Given the description of an element on the screen output the (x, y) to click on. 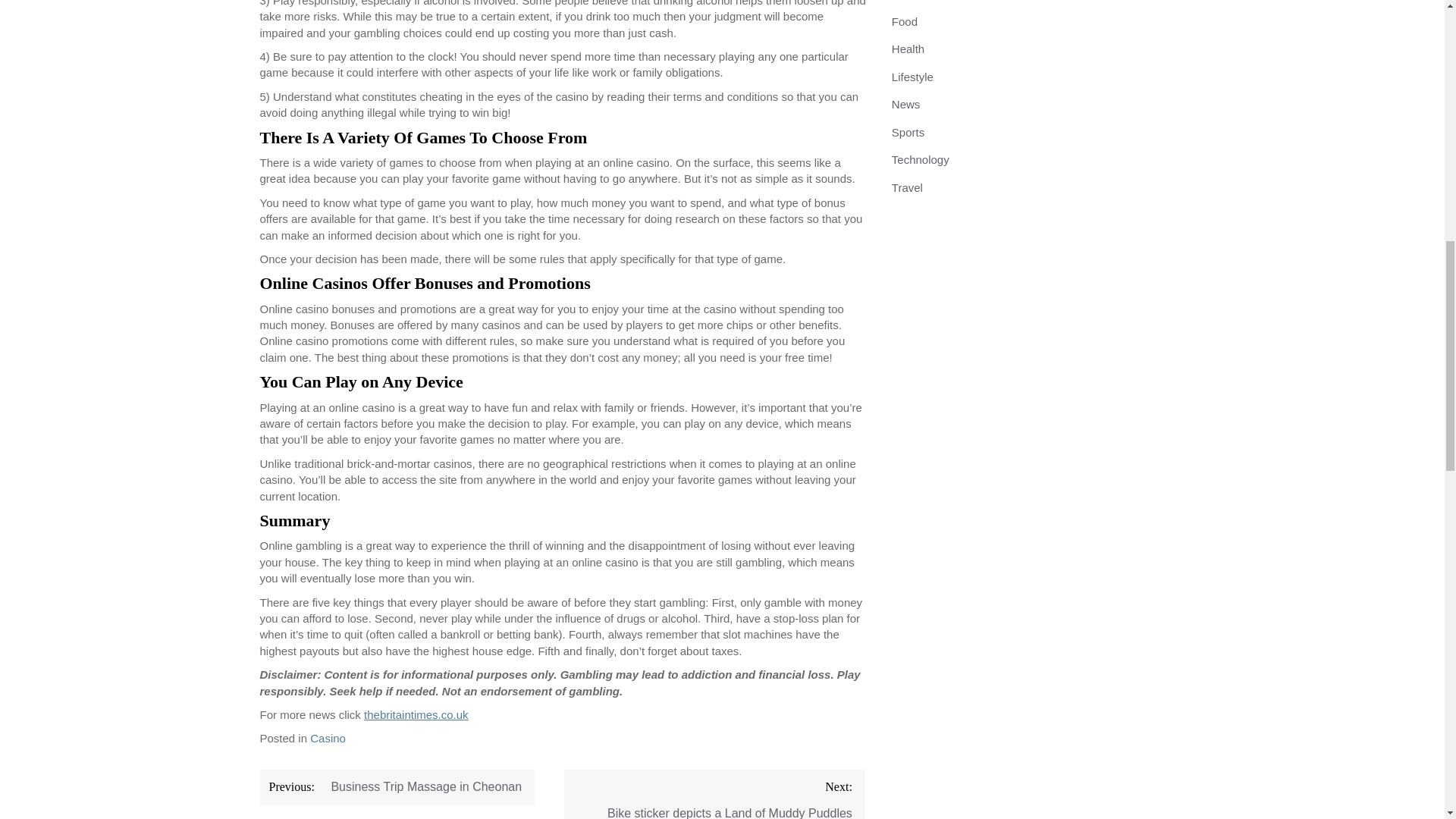
Next: Bike sticker depicts a Land of Muddy Puddles (714, 794)
Previous: Business Trip Massage in Cheonan (396, 787)
thebritaintimes.co.uk (416, 714)
Casino (328, 738)
